Given the description of an element on the screen output the (x, y) to click on. 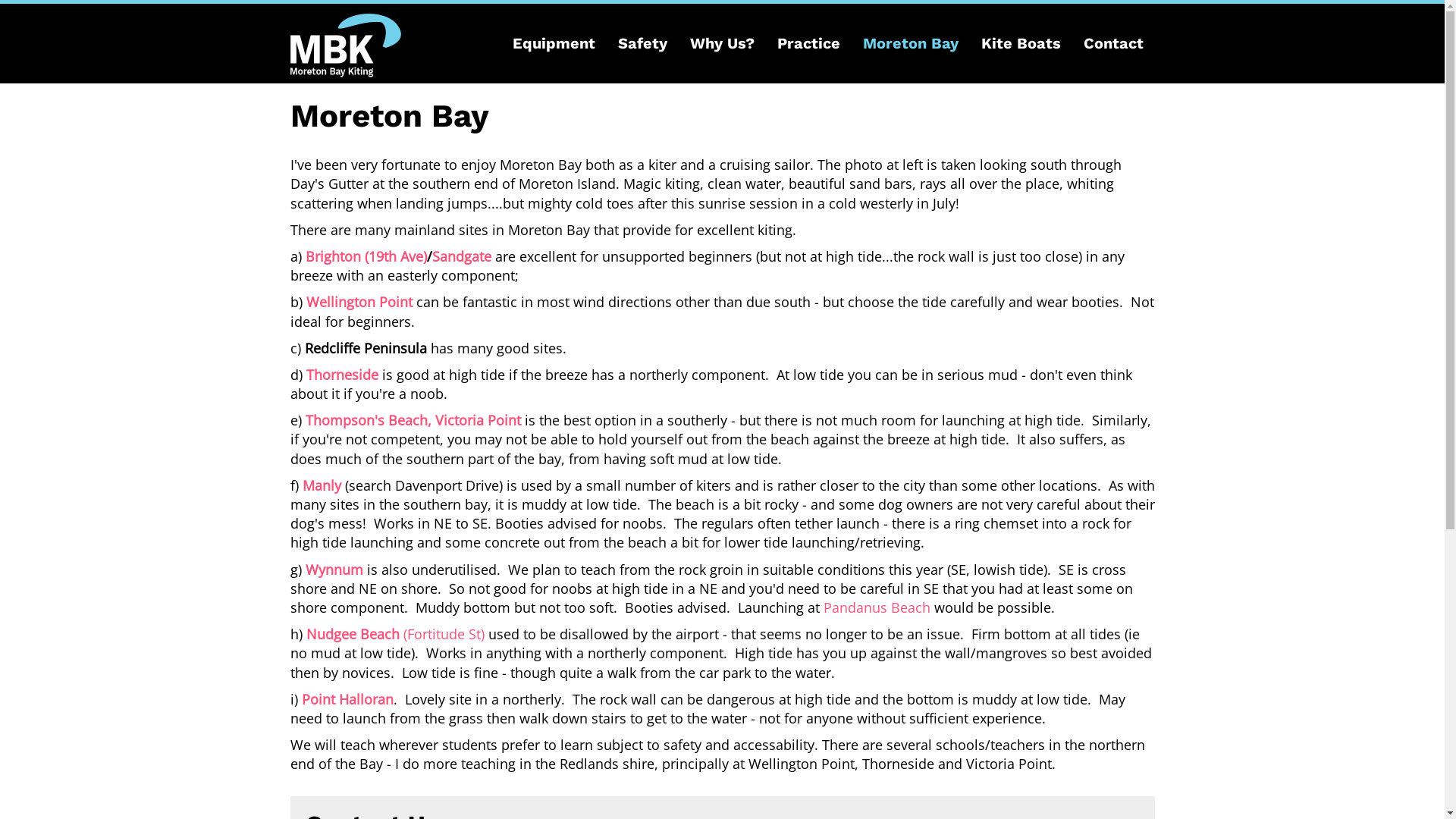
Thompson's Beach, Victoria Point Element type: text (412, 420)
Contact Element type: text (1113, 43)
Pandanus Beach Element type: text (876, 607)
Why Us? Element type: text (721, 43)
Wellington Point Element type: text (359, 301)
Kite Boats Element type: text (1020, 43)
Brighton (19th Ave) Element type: text (365, 256)
Nudgee Beach (Fortitude St) Element type: text (395, 633)
Equipment Element type: text (552, 43)
Safety Element type: text (642, 43)
Moreton Bay Element type: text (909, 43)
Sandgate Element type: text (461, 256)
Thorneside Element type: text (342, 374)
Skip to main content Element type: text (65, 0)
Manly Element type: text (320, 485)
Wynnum Element type: text (333, 569)
Home Element type: hover (344, 45)
Practice Element type: text (808, 43)
Point Halloran Element type: text (347, 699)
